Given the description of an element on the screen output the (x, y) to click on. 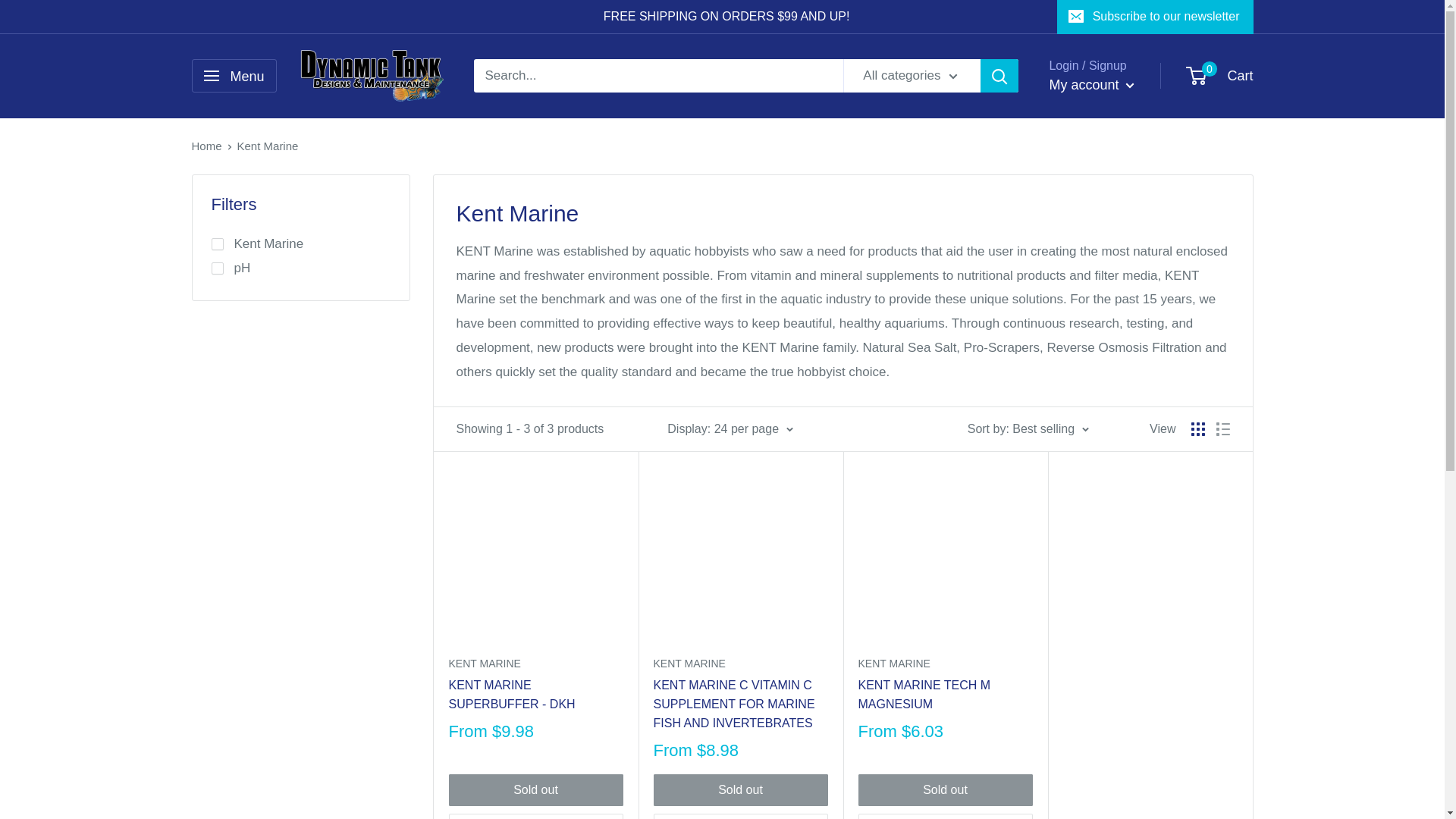
Subscribe to our newsletter (1155, 16)
on (216, 268)
on (216, 244)
